Given the description of an element on the screen output the (x, y) to click on. 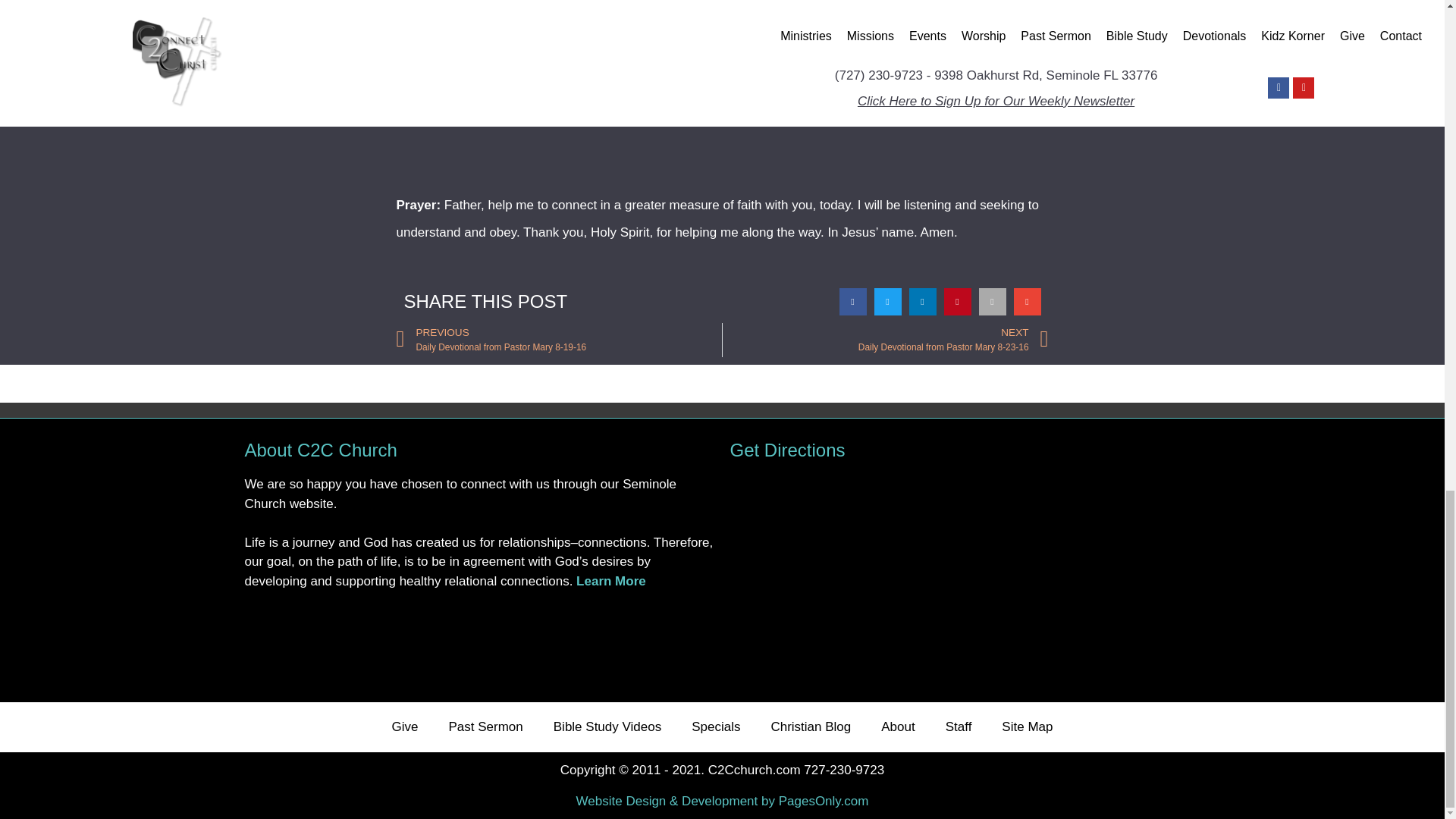
Connect2Christ Church, Seminole FL 33776 (964, 577)
Scroll back to top (1406, 301)
